Given the description of an element on the screen output the (x, y) to click on. 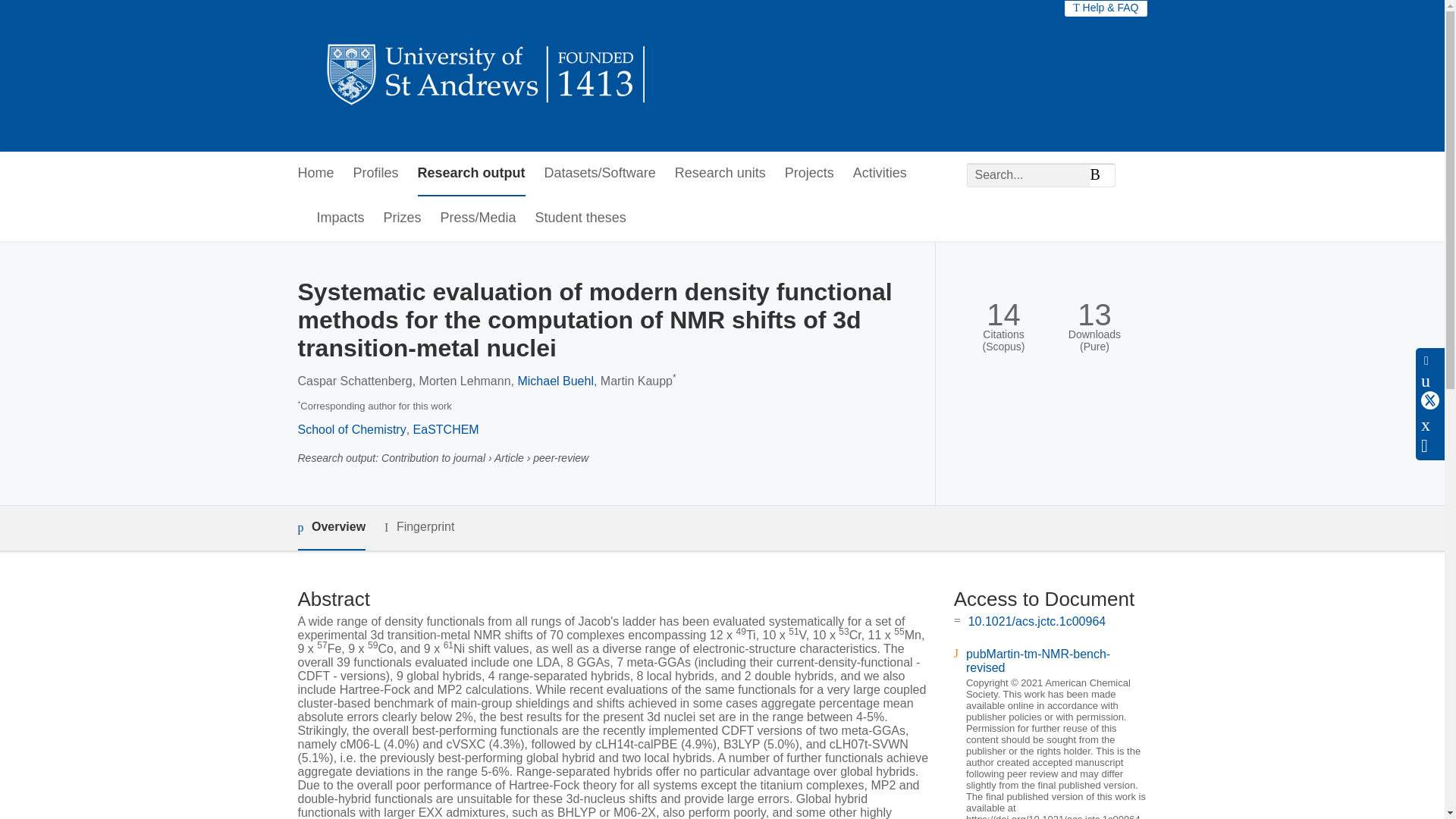
Projects (809, 173)
Overview (331, 528)
pubMartin-tm-NMR-bench-revised (1037, 660)
Impacts (341, 218)
Fingerprint (419, 527)
EaSTCHEM (446, 429)
School of Chemistry (351, 429)
Home (315, 173)
Research output (471, 173)
Prizes (403, 218)
Research units (720, 173)
University of St Andrews Research Portal Home (487, 75)
Profiles (375, 173)
Activities (880, 173)
Michael Buehl (555, 380)
